Given the description of an element on the screen output the (x, y) to click on. 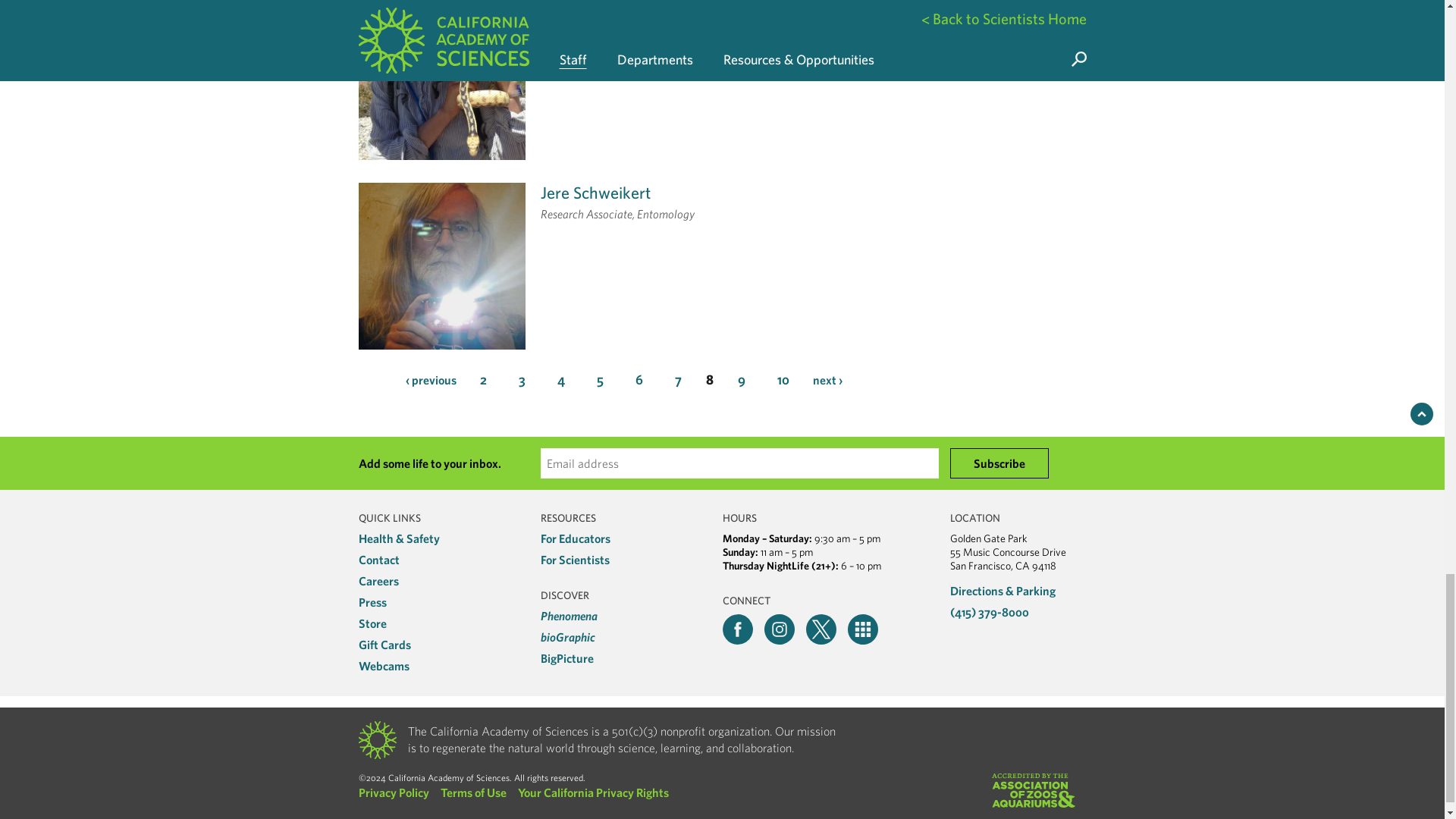
Go to next page (827, 379)
Go to previous page (429, 379)
Subscribe (998, 462)
